Given the description of an element on the screen output the (x, y) to click on. 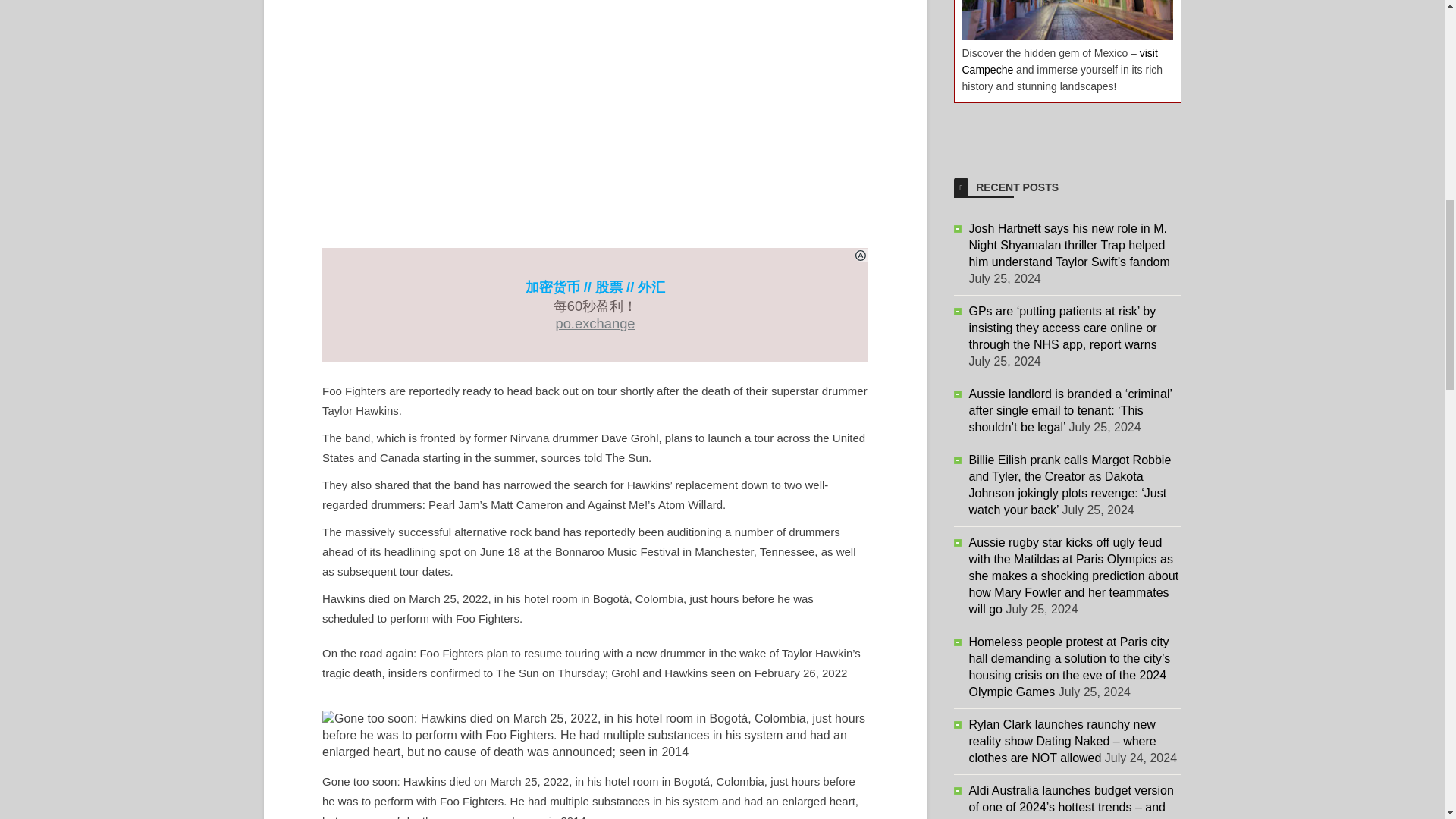
visit Campeche (1058, 61)
